Given the description of an element on the screen output the (x, y) to click on. 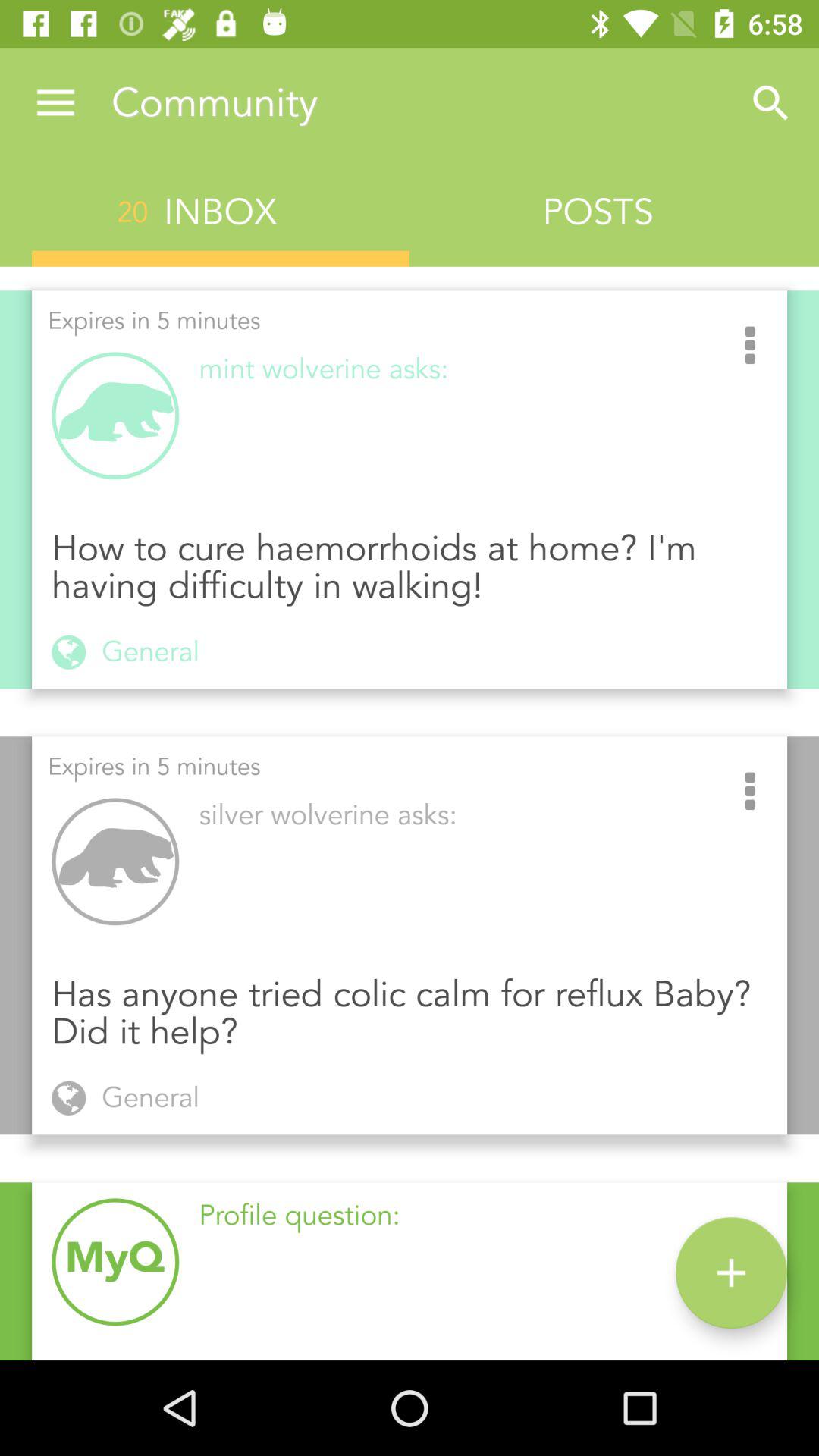
select the item above the has anyone tried icon (750, 792)
